Given the description of an element on the screen output the (x, y) to click on. 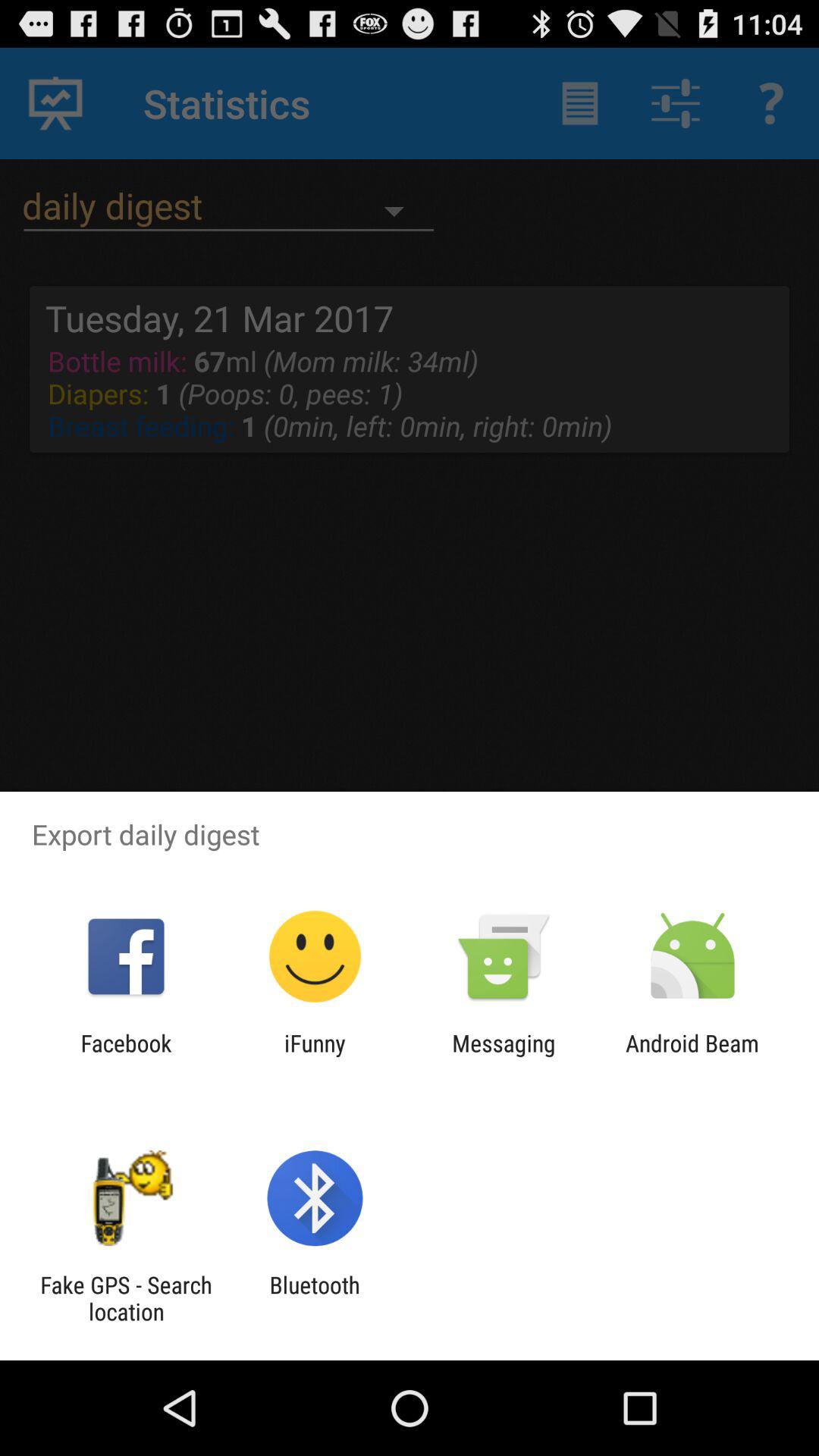
launch item next to ifunny icon (503, 1056)
